Given the description of an element on the screen output the (x, y) to click on. 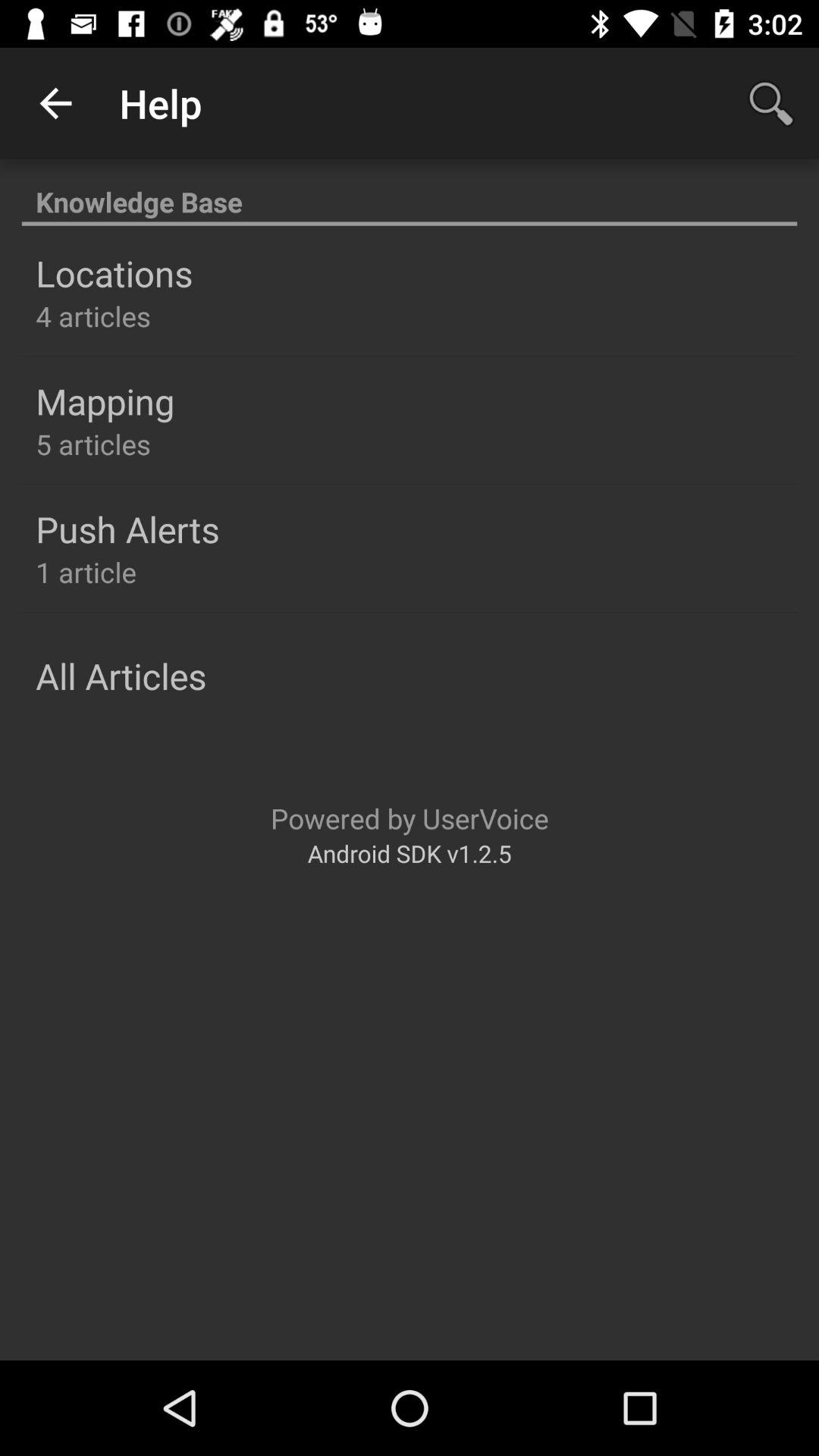
flip to knowledge base (409, 193)
